Given the description of an element on the screen output the (x, y) to click on. 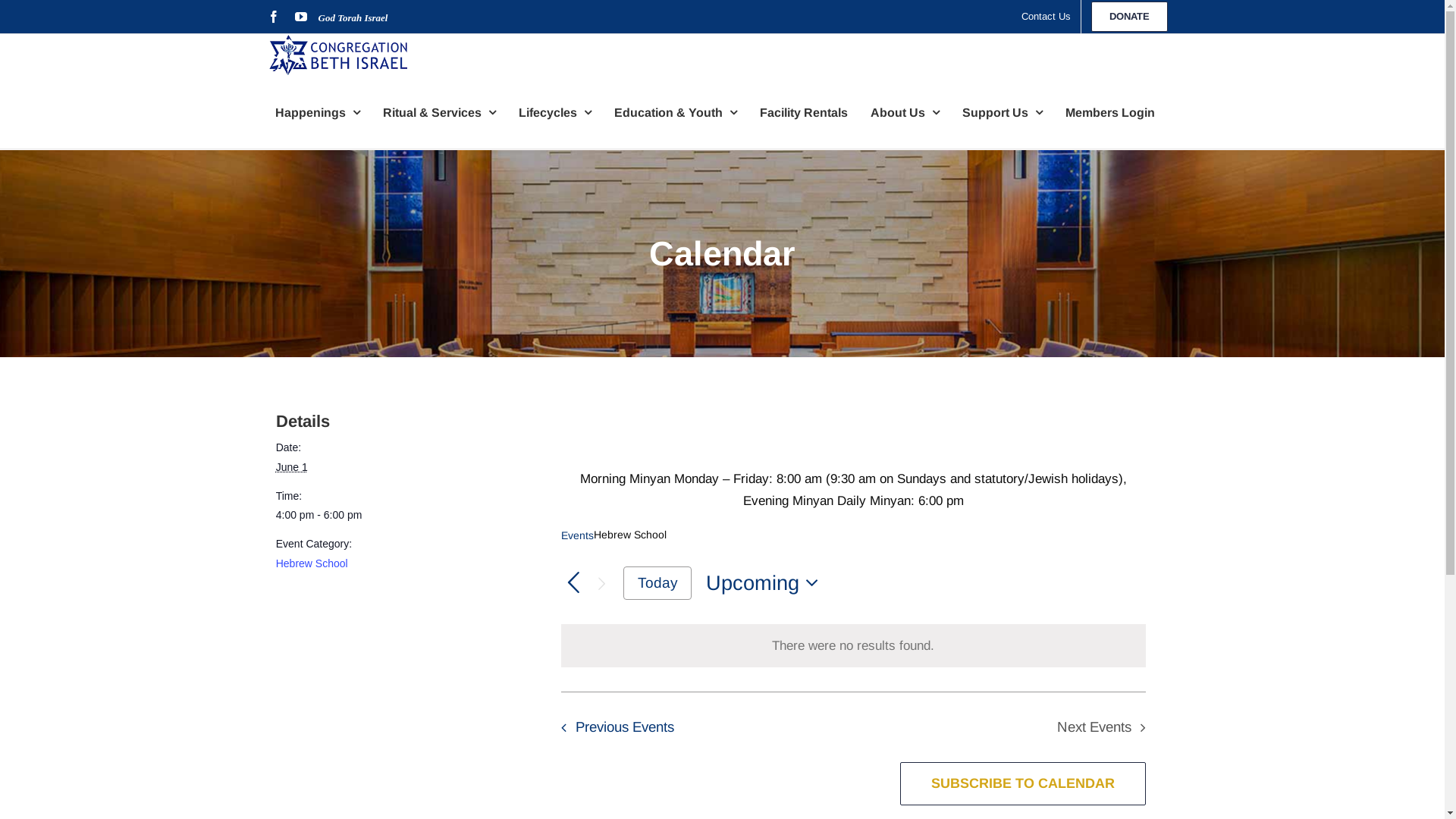
Upcoming Element type: text (766, 583)
Facility Rentals Element type: text (803, 112)
Previous Events Element type: hover (573, 583)
Facebook Element type: text (272, 16)
Lifecycles Element type: text (554, 112)
Happenings Element type: text (316, 112)
Contact Us Element type: text (1045, 16)
Events Element type: text (577, 535)
SUBSCRIBE TO CALENDAR Element type: text (1022, 783)
Previous Events Element type: text (612, 726)
Today Element type: text (656, 582)
Ritual & Services Element type: text (438, 112)
Hebrew School Element type: text (312, 563)
Education & Youth Element type: text (675, 112)
About Us Element type: text (904, 112)
Members Login Element type: text (1109, 112)
Next Events Element type: text (1105, 726)
DONATE Element type: text (1129, 16)
Next Events Element type: hover (601, 583)
YouTube Element type: text (300, 16)
Support Us Element type: text (1001, 112)
